Given the description of an element on the screen output the (x, y) to click on. 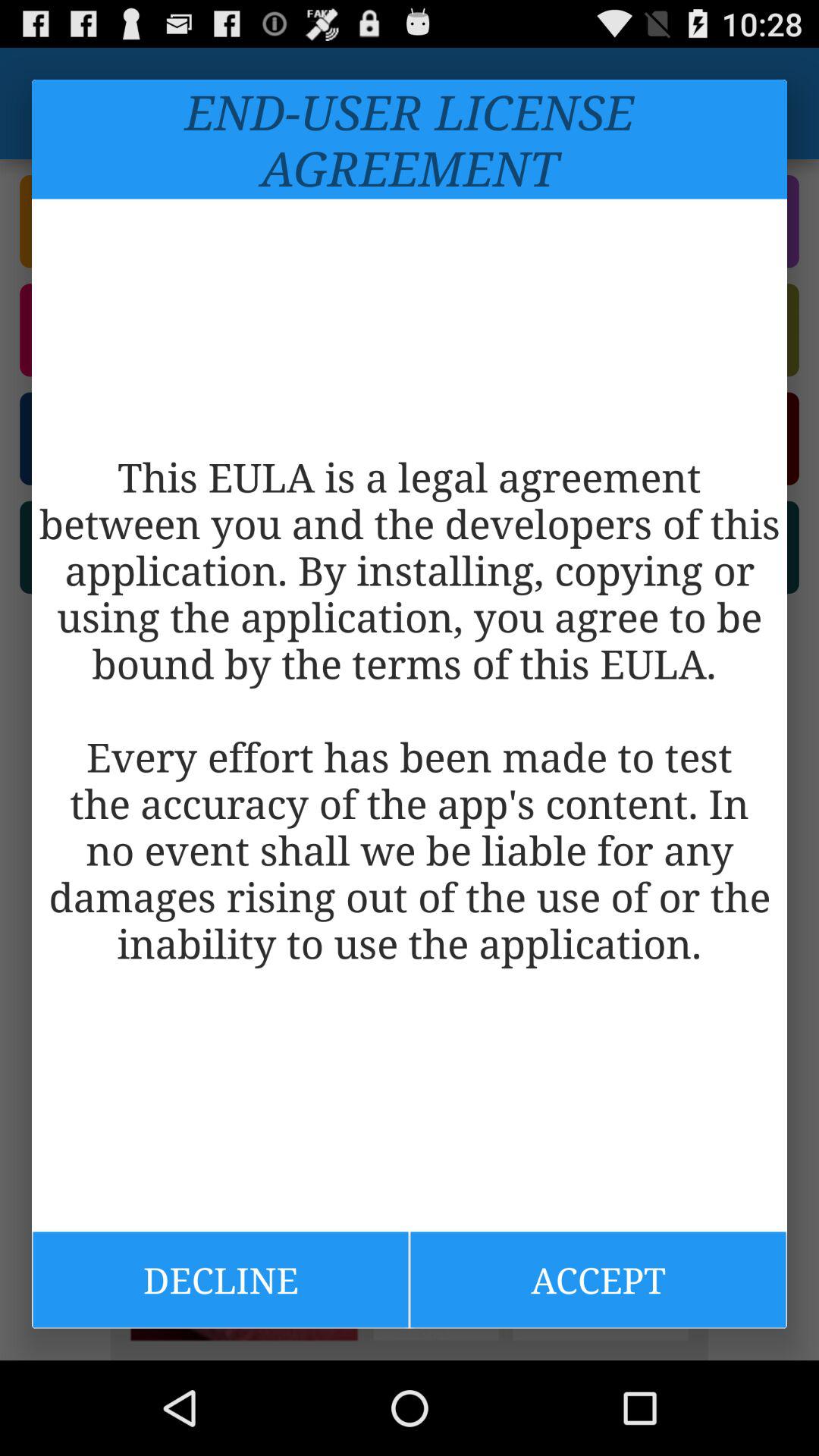
launch icon next to accept (220, 1279)
